Given the description of an element on the screen output the (x, y) to click on. 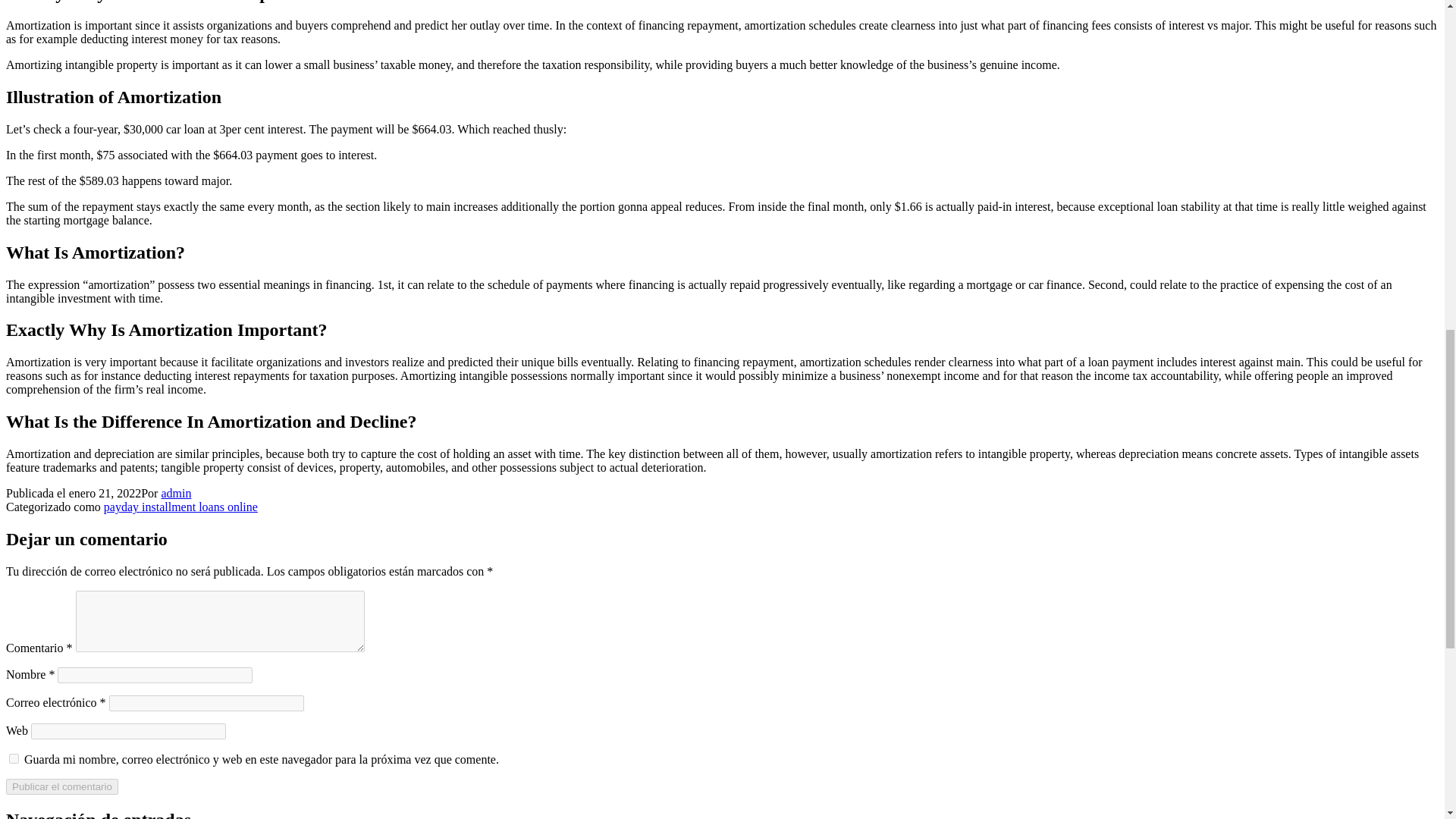
payday installment loans online (180, 506)
admin (175, 492)
Publicar el comentario (61, 786)
yes (13, 758)
Publicar el comentario (61, 786)
